Given the description of an element on the screen output the (x, y) to click on. 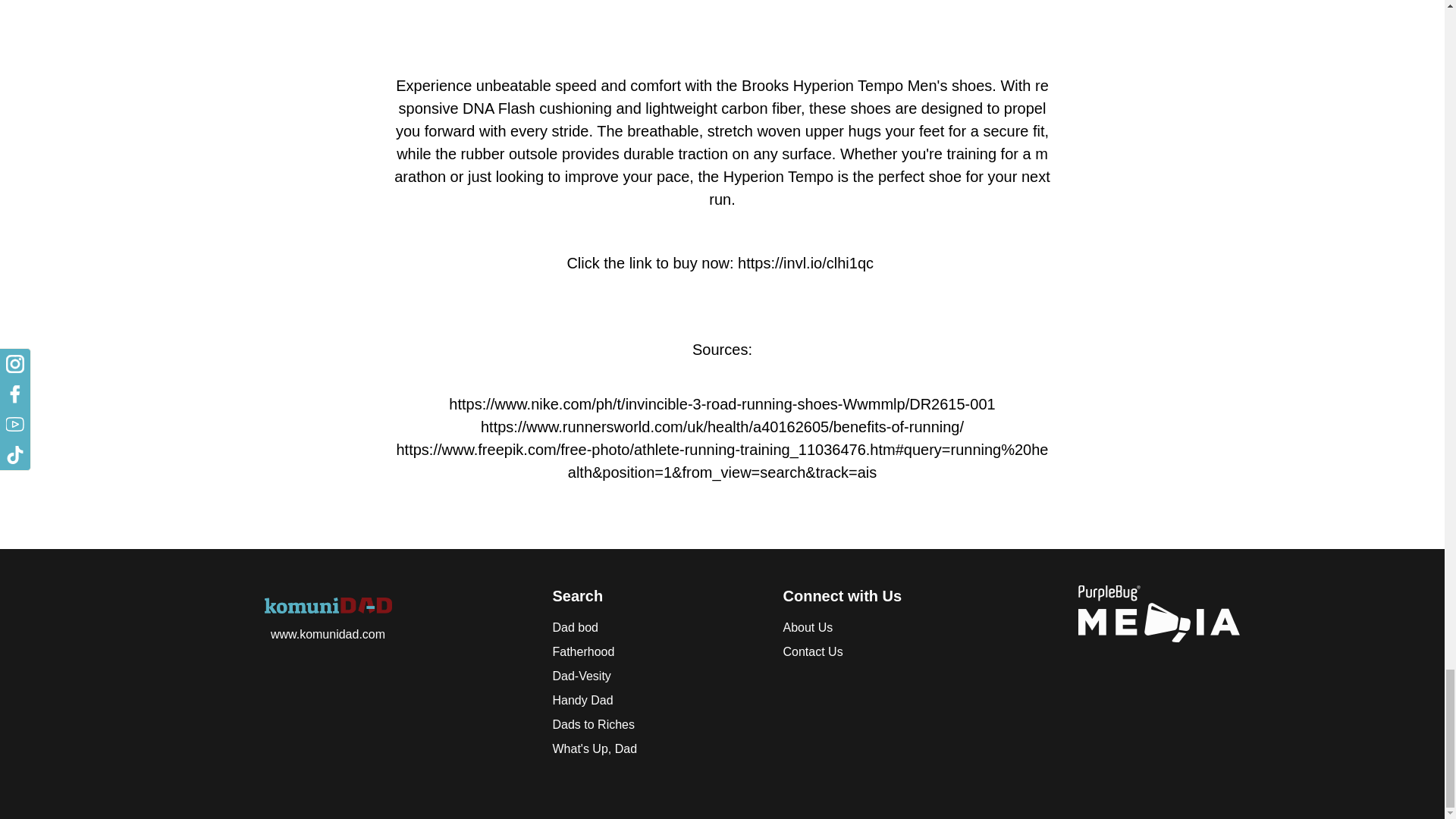
Handy Dad (648, 700)
About Us (879, 628)
www.komunidad.com (327, 634)
Dad-Vesity (648, 676)
Dad bod (648, 628)
Fatherhood (648, 651)
What's Up, Dad (648, 749)
Contact Us (879, 651)
Dads to Riches (648, 724)
